Given the description of an element on the screen output the (x, y) to click on. 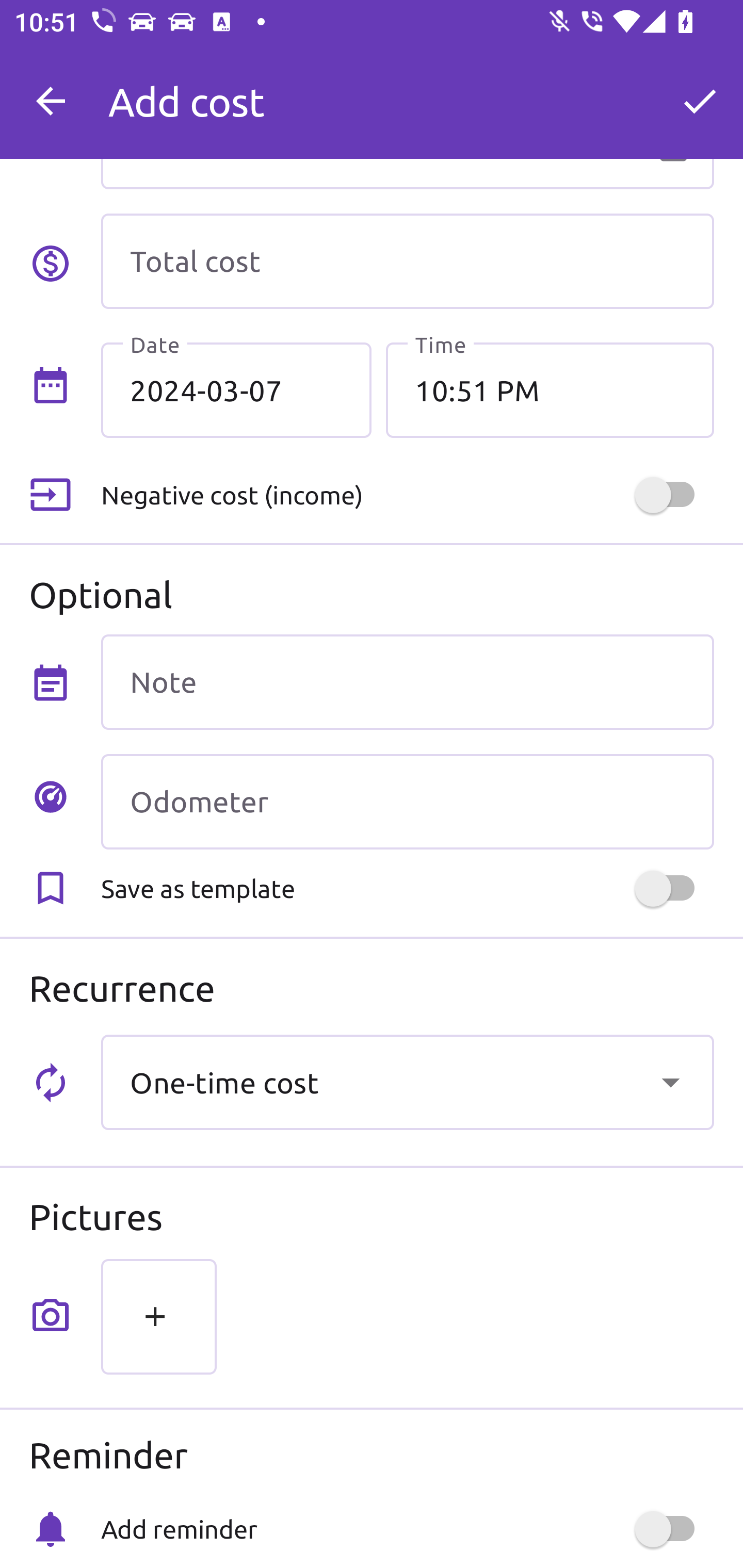
M My Car 0 km (407, 92)
Navigate up (50, 101)
OK (699, 101)
Total cost  (407, 260)
2024-03-07 (236, 389)
10:51 PM (549, 389)
Negative cost (income) (407, 494)
Note (407, 682)
Odometer (407, 801)
Save as template (407, 887)
One-time cost (407, 1082)
Show dropdown menu (670, 1081)
Add reminder (407, 1529)
